Given the description of an element on the screen output the (x, y) to click on. 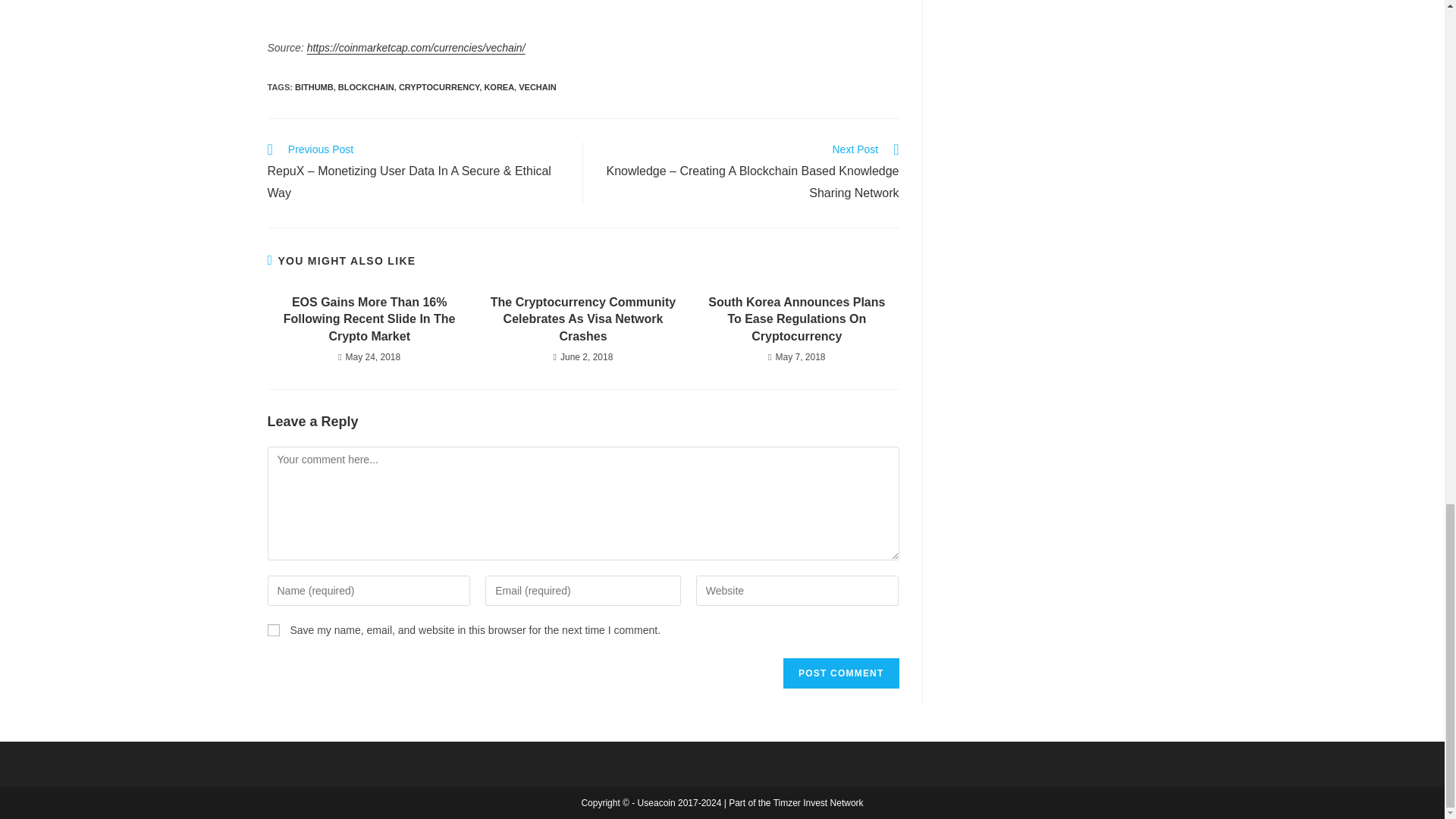
yes (272, 630)
Post Comment (840, 673)
BITHUMB (314, 86)
CRYPTOCURRENCY (438, 86)
BLOCKCHAIN (365, 86)
Post Comment (840, 673)
VECHAIN (537, 86)
Timzer Invest Network (818, 802)
KOREA (498, 86)
